Given the description of an element on the screen output the (x, y) to click on. 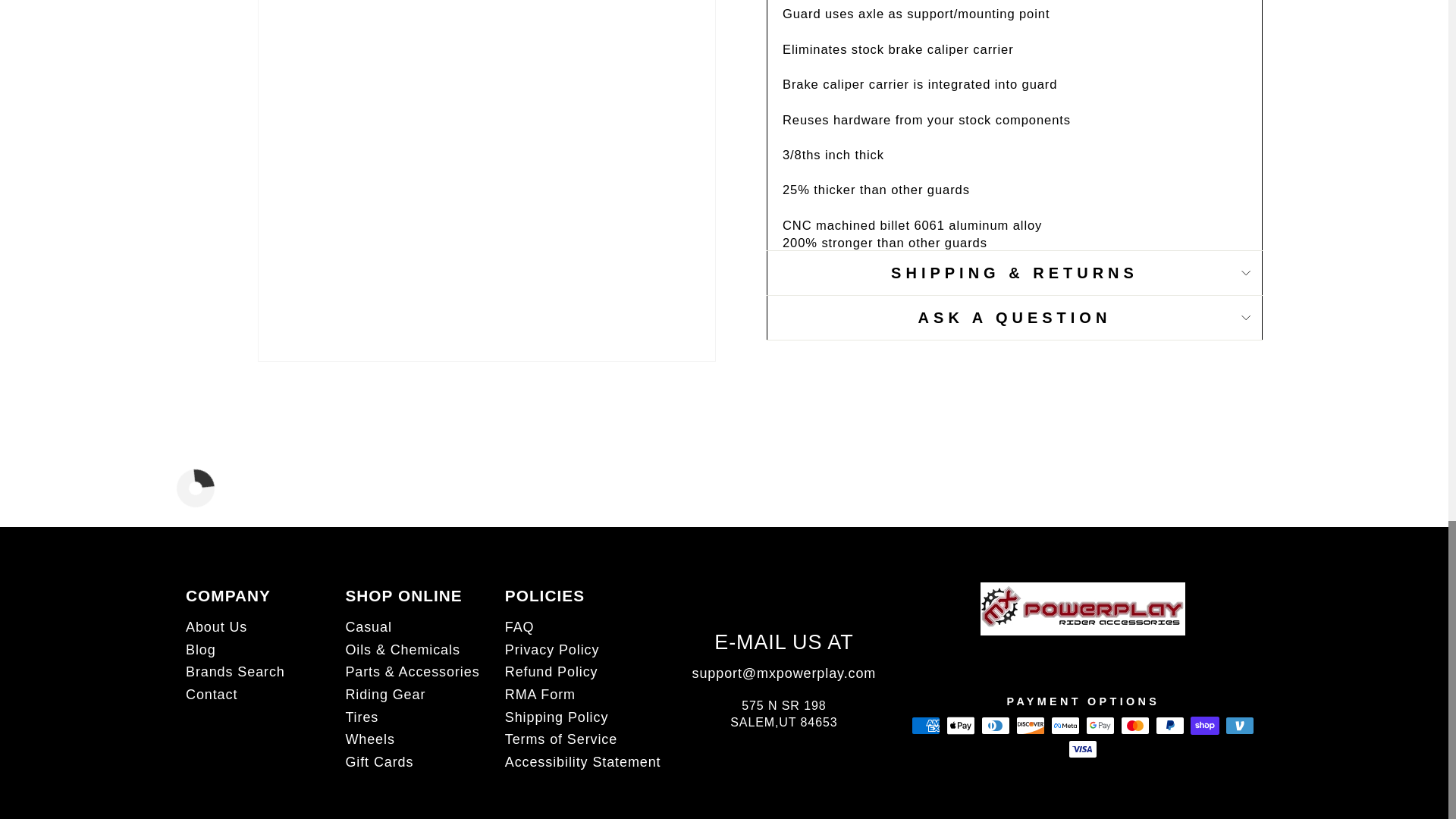
MX PowerPlay  on Instagram (1082, 649)
Mastercard (1135, 725)
Meta Pay (1065, 725)
Google Pay (1100, 725)
Discover (1030, 725)
American Express (925, 725)
Apple Pay (960, 725)
MX PowerPlay  on Facebook (1082, 671)
Diners Club (995, 725)
